Given the description of an element on the screen output the (x, y) to click on. 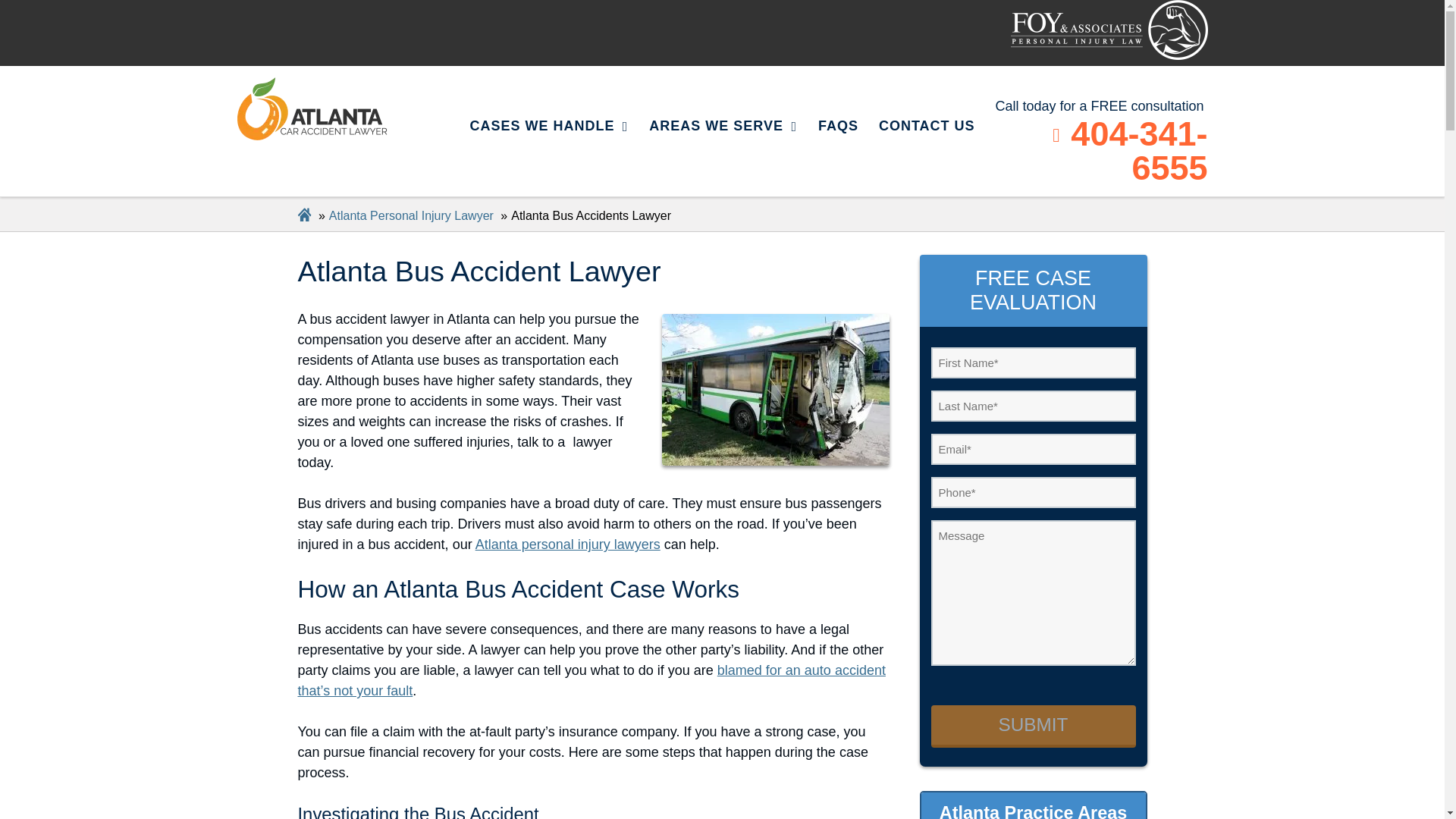
Submit (1033, 726)
CASES WE HANDLE (549, 126)
Atlanta Car Accident Lawyer (1108, 29)
